Given the description of an element on the screen output the (x, y) to click on. 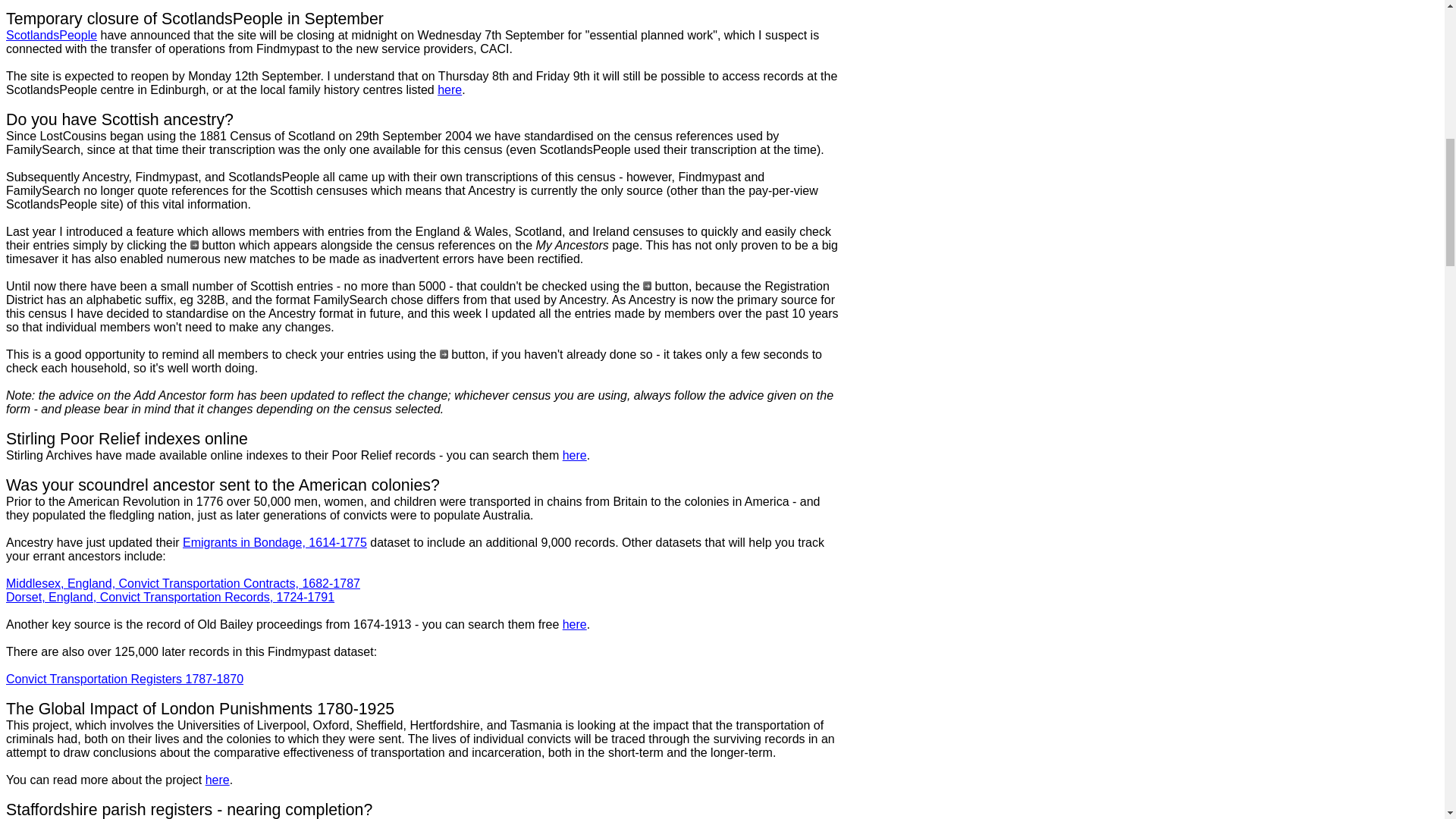
here (217, 779)
Do you have Scottish ancestry? (118, 121)
here (574, 454)
here (574, 624)
Was your scoundrel ancestor sent to the American colonies? (222, 486)
here (449, 89)
Temporary closure of ScotlandsPeople in September (194, 20)
Convict Transportation Registers 1787-1870 (124, 678)
Emigrants in Bondage, 1614-1775 (274, 542)
Stirling Poor Relief indexes online (126, 440)
